Given the description of an element on the screen output the (x, y) to click on. 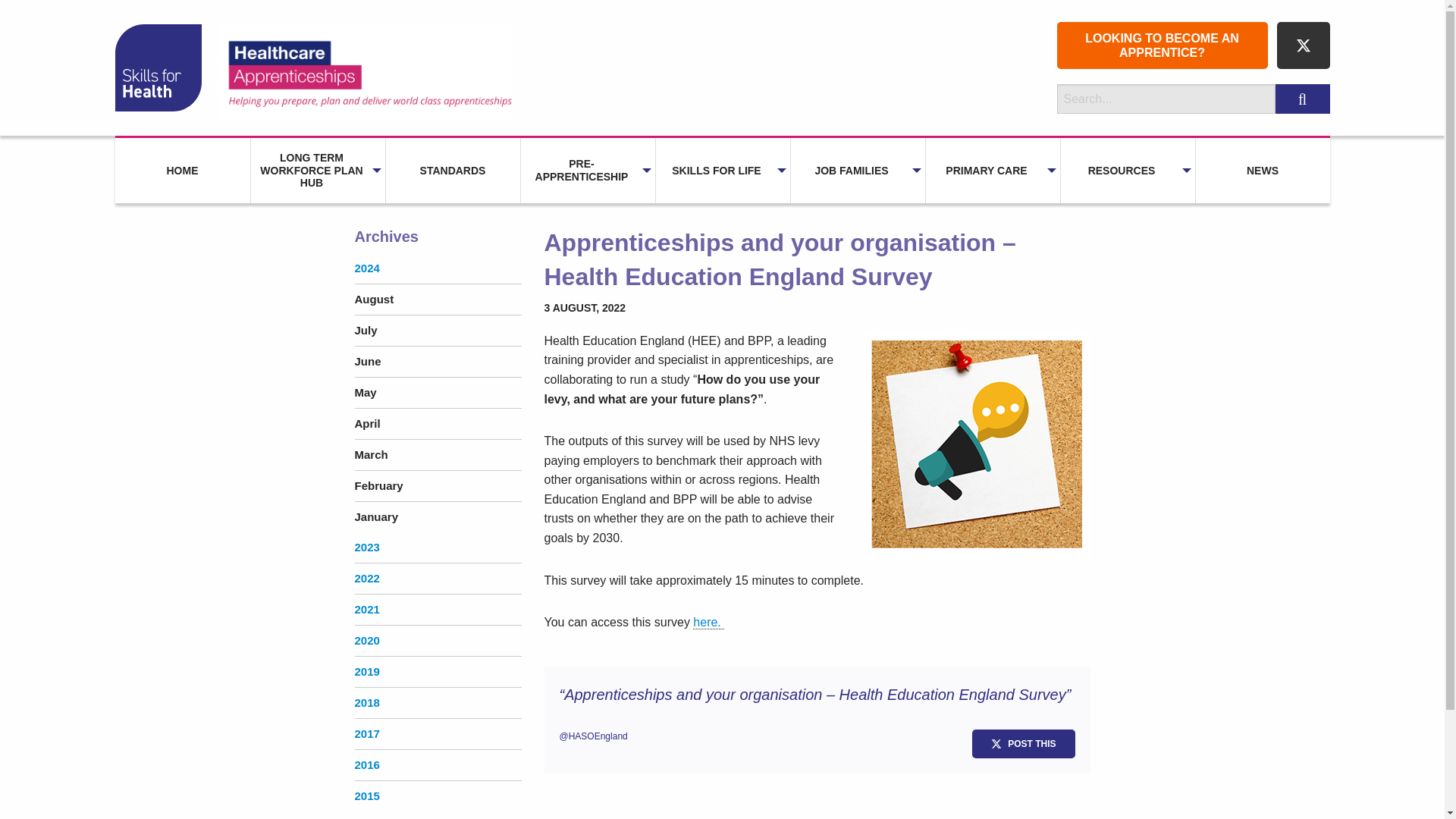
HOME (182, 170)
LOOKING TO BECOME AN APPRENTICE? (1162, 45)
PRE-APPRENTICESHIP (586, 170)
Search for: (1166, 98)
LONG TERM WORKFORCE PLAN HUB (317, 170)
SKILLS FOR LIFE (722, 170)
STANDARDS (452, 170)
JOB FAMILIES (857, 170)
